Given the description of an element on the screen output the (x, y) to click on. 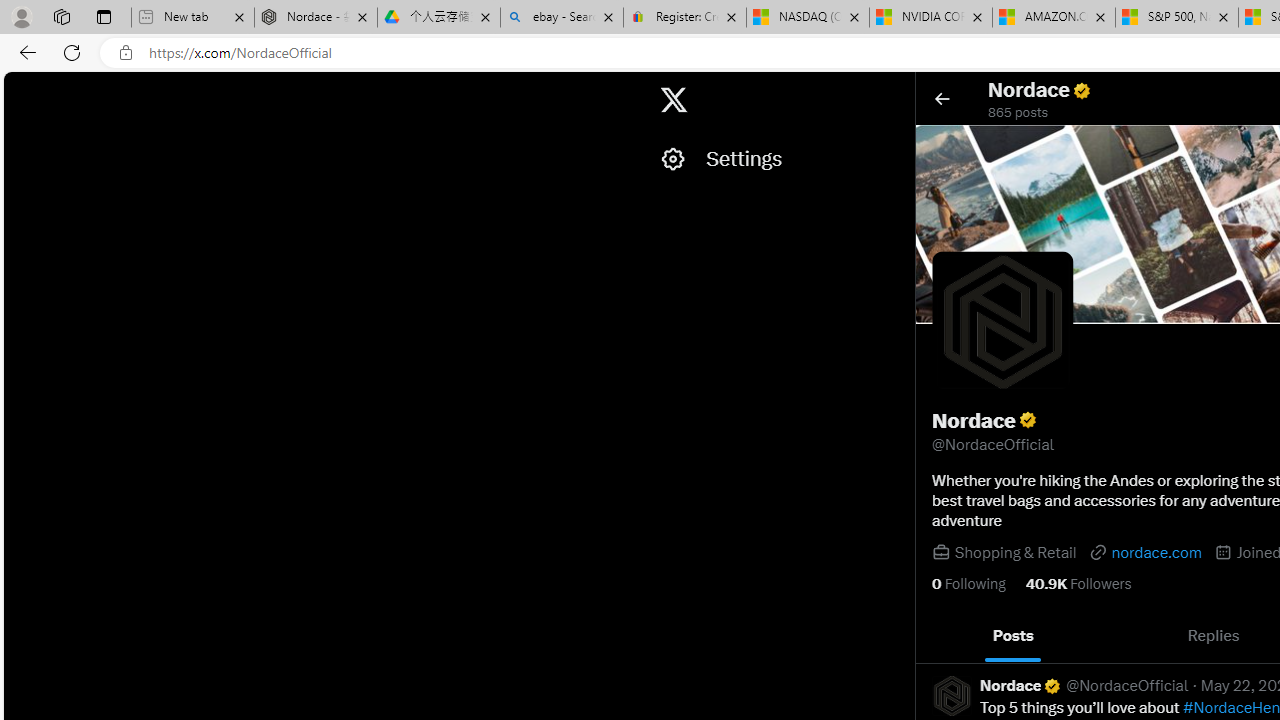
Nordace Verified account (1021, 685)
ebay - Search (561, 17)
X (673, 99)
Verified account (1052, 686)
Skip to home timeline (21, 90)
Shopping & Retail (1014, 551)
0 Following (968, 583)
Square profile picture (951, 695)
Square profile picture and Opens profile photo (1002, 321)
